Given the description of an element on the screen output the (x, y) to click on. 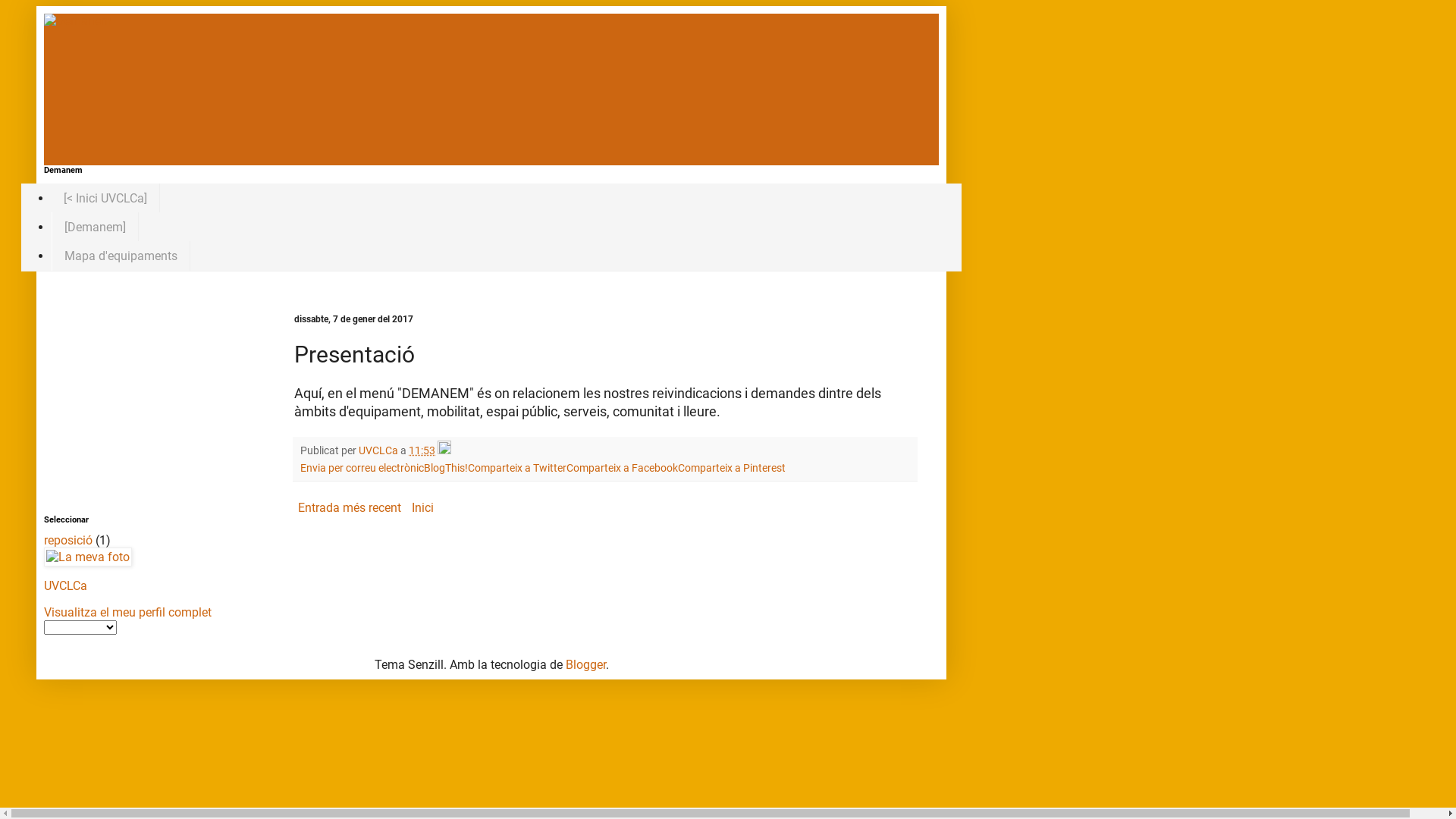
Visualitza el meu perfil complet Element type: text (127, 612)
BlogThis! Element type: text (445, 467)
Comparteix a Facebook Element type: text (621, 467)
Blogger Element type: text (585, 664)
UVCLCa Element type: text (65, 585)
Inici Element type: text (422, 507)
[< Inici UVCLCa] Element type: text (105, 197)
Modificar el missatge Element type: hover (444, 450)
Mapa d'equipaments Element type: text (120, 255)
Comparteix a Twitter Element type: text (516, 467)
Comparteix a Pinterest Element type: text (731, 467)
[Demanem] Element type: text (94, 226)
11:53 Element type: text (421, 450)
UVCLCa Element type: text (379, 450)
